Given the description of an element on the screen output the (x, y) to click on. 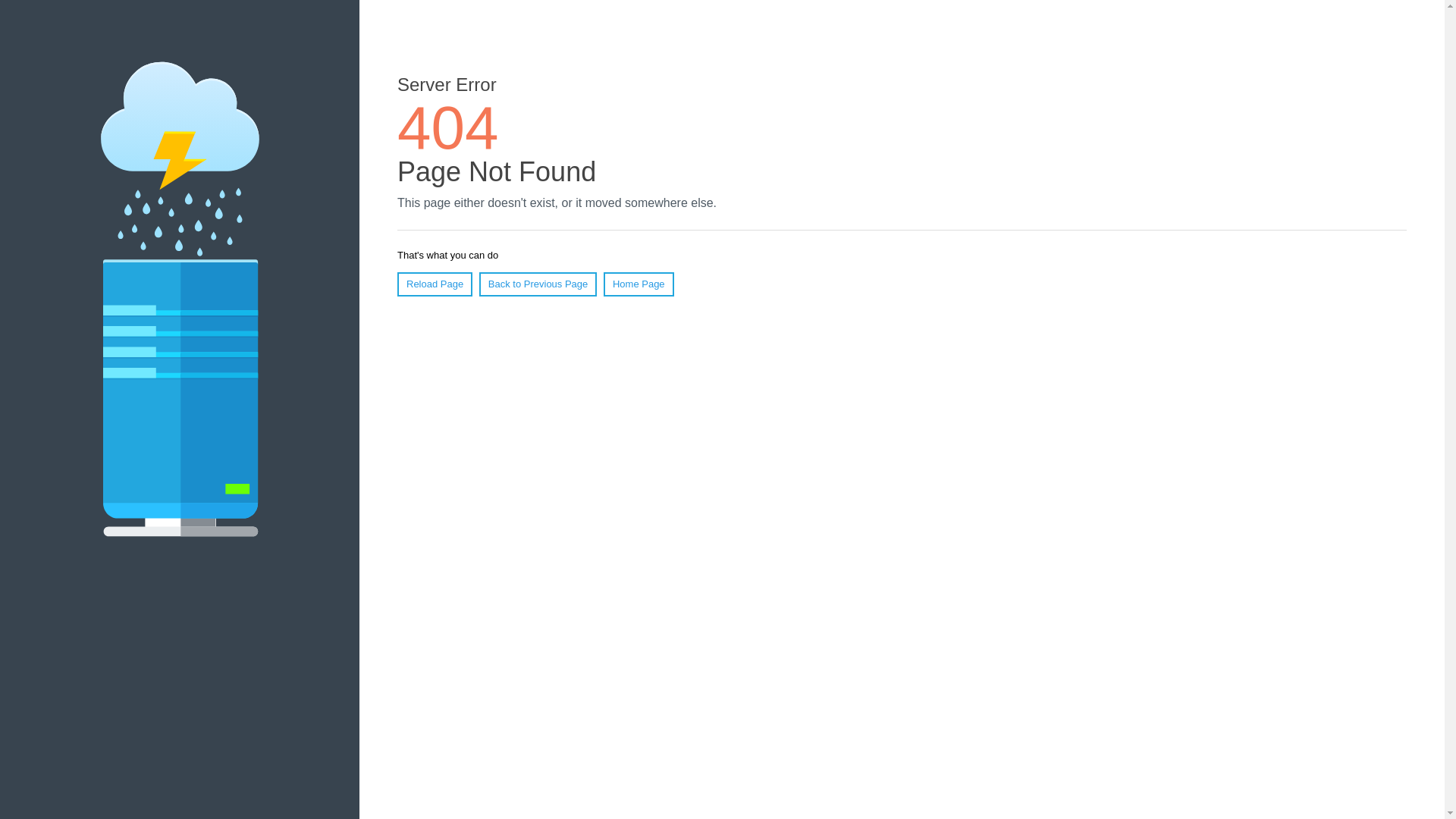
Reload Page Element type: text (434, 284)
Back to Previous Page Element type: text (538, 284)
Home Page Element type: text (638, 284)
